Given the description of an element on the screen output the (x, y) to click on. 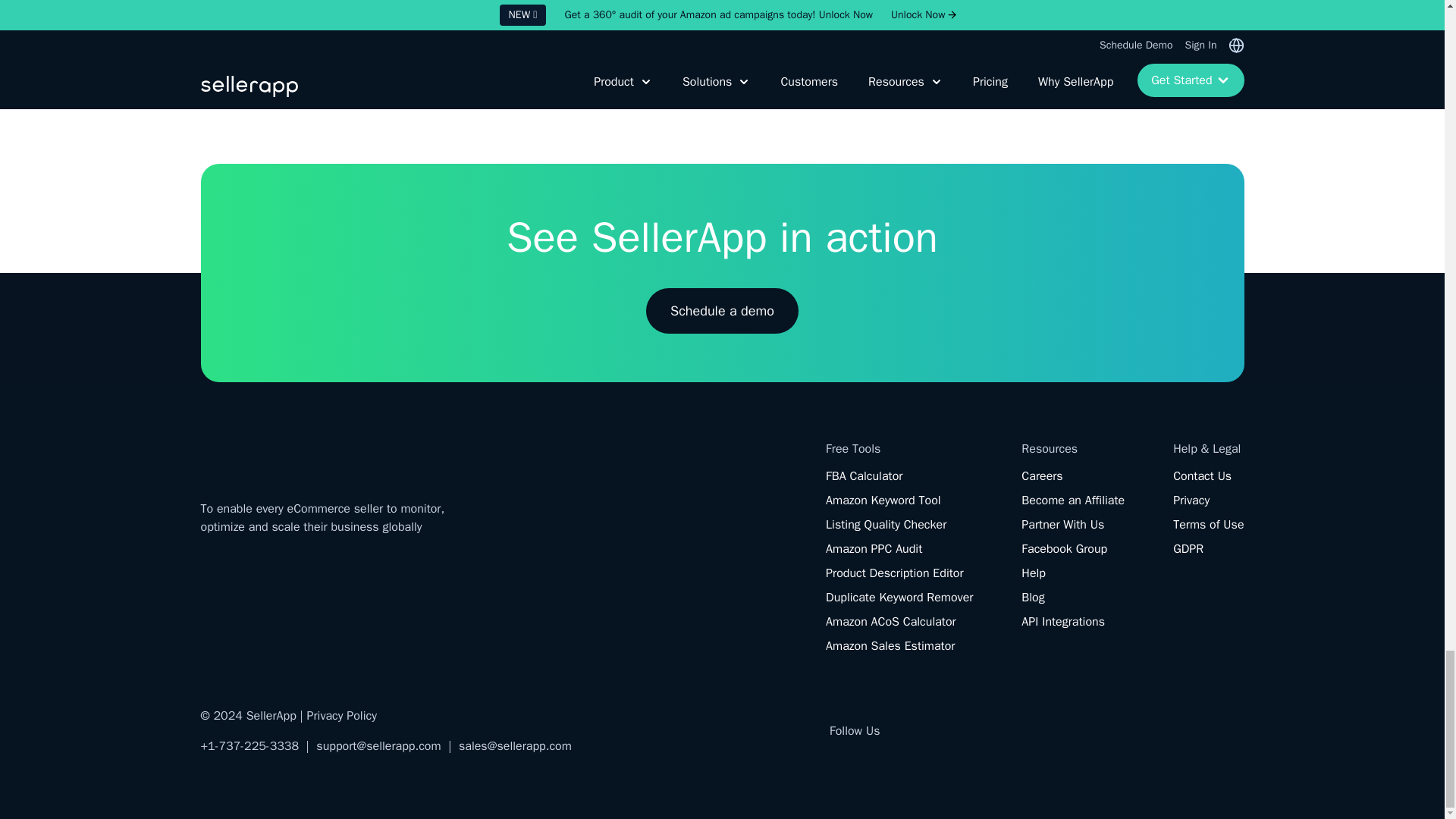
Amazon Keyword Tool (882, 500)
Schedule a demo (721, 310)
Listing Quality Checker (885, 524)
FBA Calculator (863, 476)
